Given the description of an element on the screen output the (x, y) to click on. 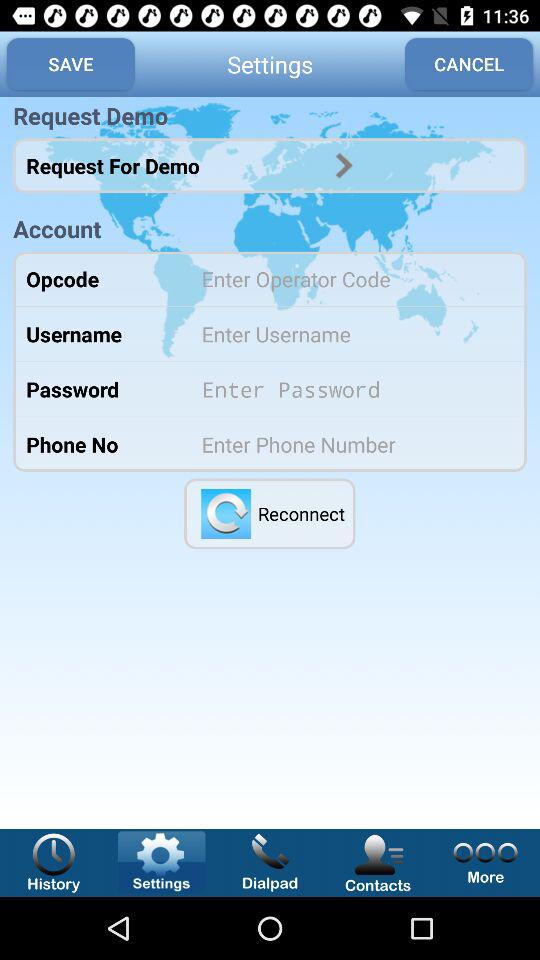
open the cancel (469, 64)
